Given the description of an element on the screen output the (x, y) to click on. 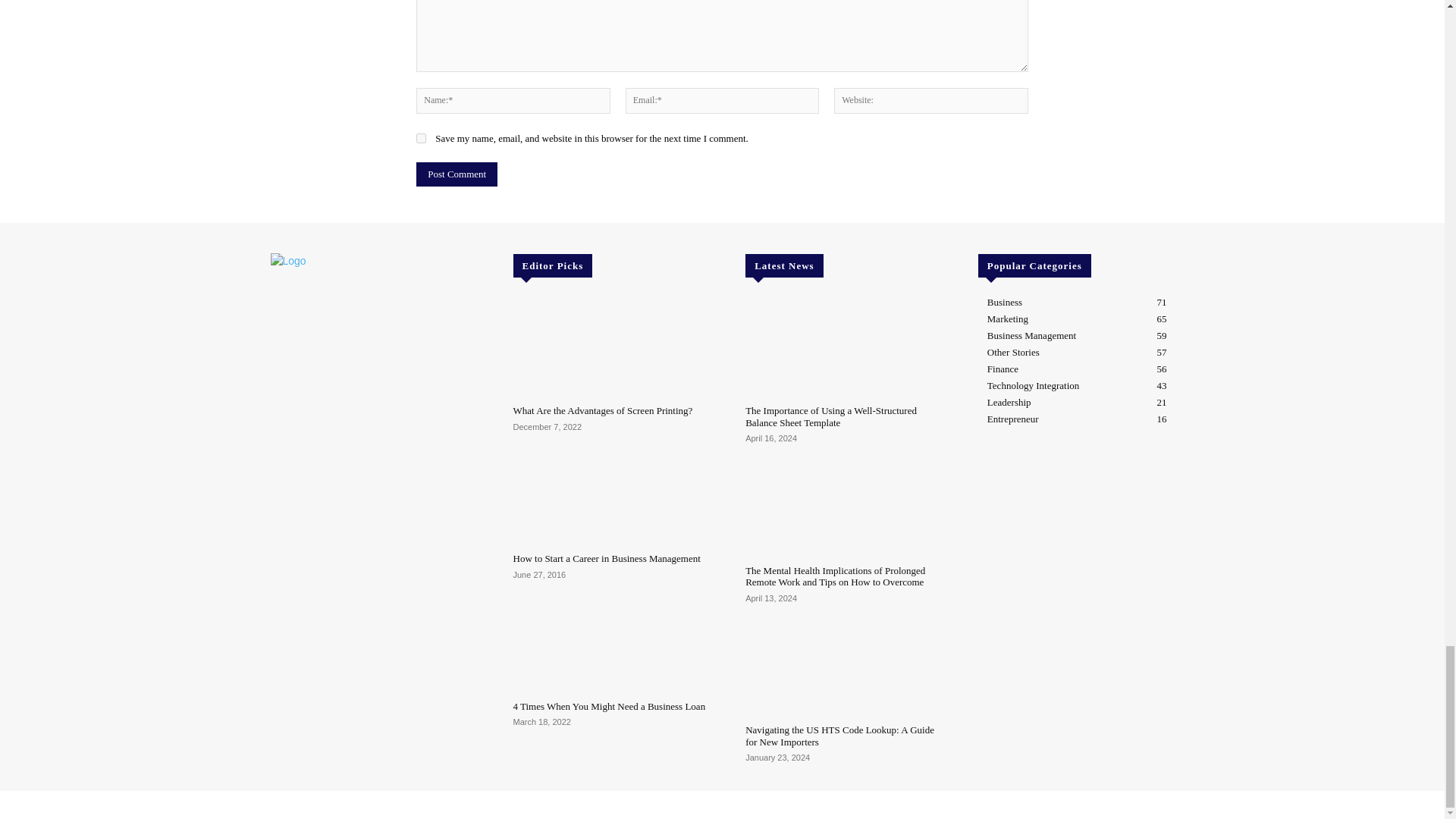
yes (421, 138)
Post Comment (456, 174)
